Given the description of an element on the screen output the (x, y) to click on. 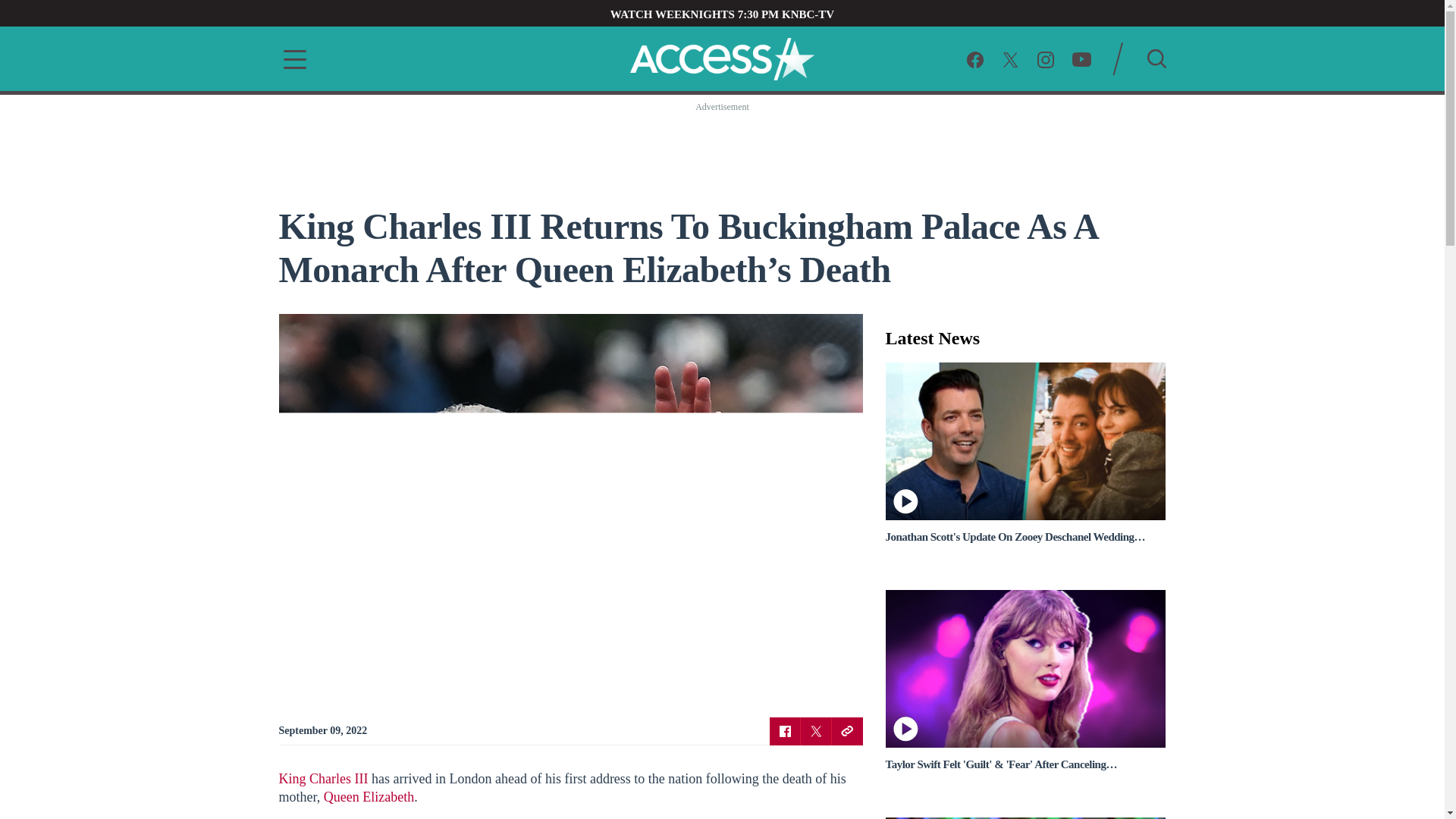
Twitter (815, 730)
Youtube (1080, 58)
Twitter (1010, 58)
SEARCH (1156, 58)
Facebook (975, 58)
Main navigation (290, 59)
Instagram (1045, 58)
Facebook (783, 730)
Copy URL (846, 730)
